Given the description of an element on the screen output the (x, y) to click on. 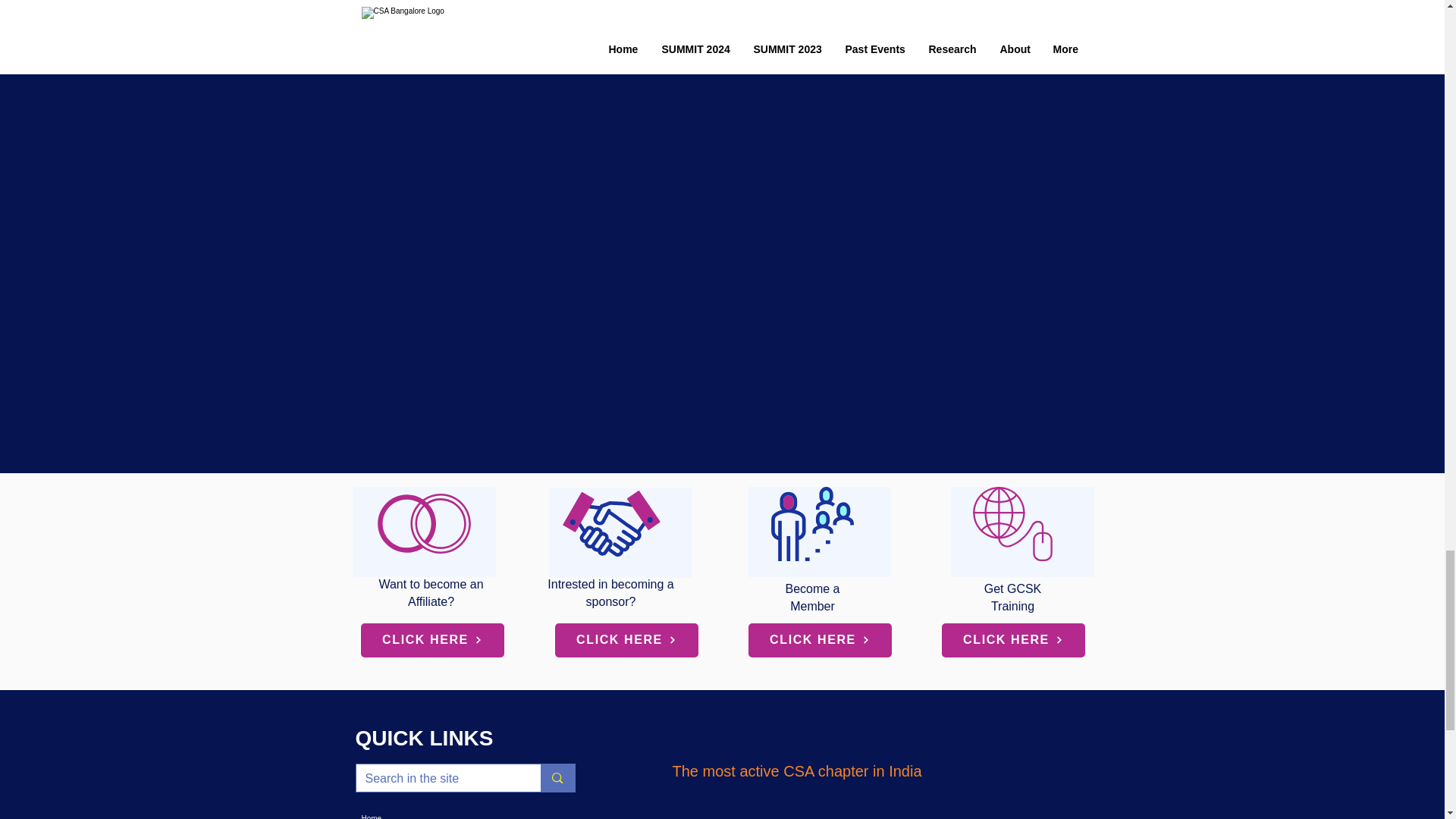
Home (432, 809)
CLICK HERE (432, 640)
CLICK HERE (819, 640)
CLICK HERE (1013, 640)
CLICK HERE (626, 640)
